Given the description of an element on the screen output the (x, y) to click on. 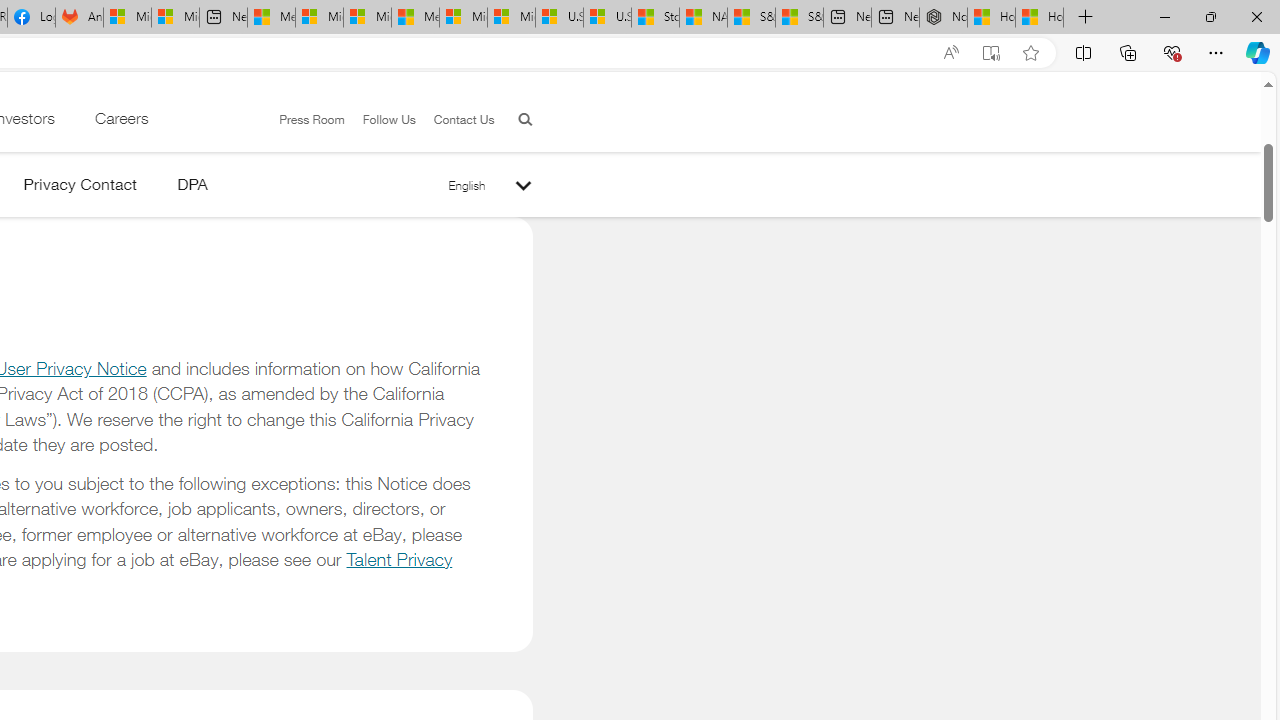
Privacy Contact (80, 188)
